Given the description of an element on the screen output the (x, y) to click on. 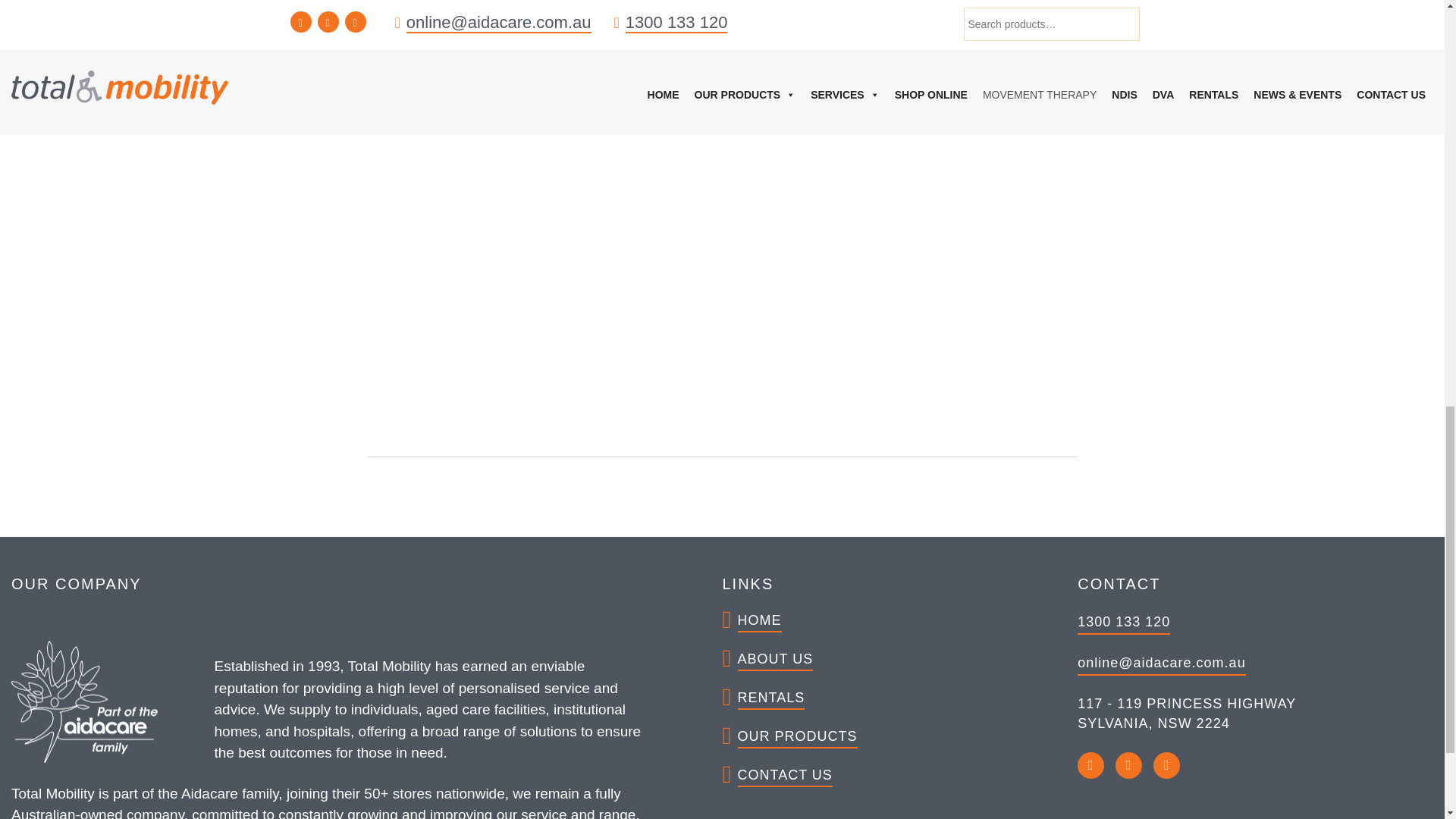
YouTube (1128, 765)
Instagram (1166, 765)
Facebook (1090, 765)
